Given the description of an element on the screen output the (x, y) to click on. 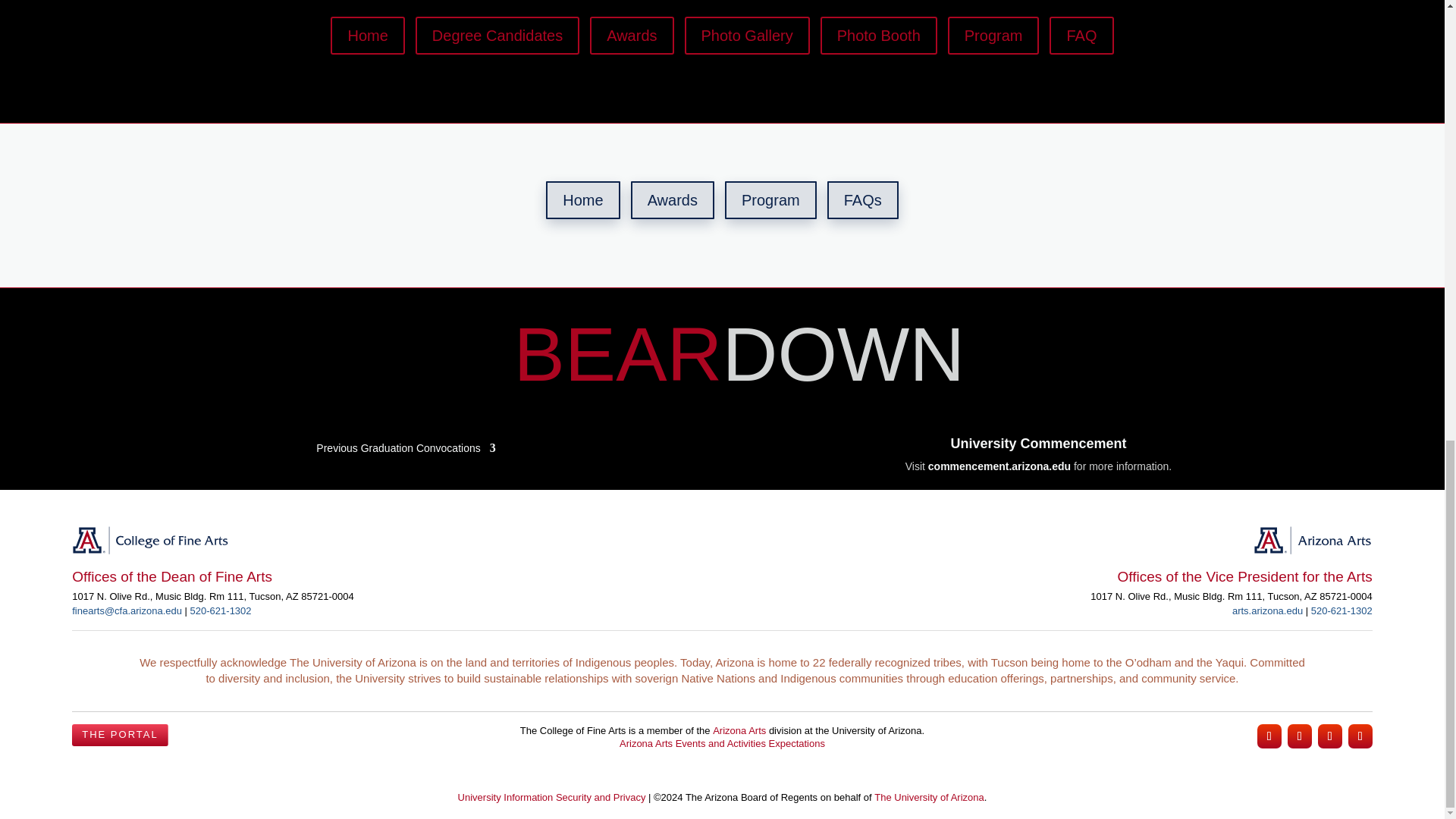
Previous Graduation Convocations (405, 444)
Follow on Youtube (1360, 735)
THE PORTAL (119, 734)
Home (583, 199)
arts.arizona.edu (1267, 610)
520-621-1302 (1342, 610)
Degree Candidates (496, 35)
CFA-Lockup-UABlue (149, 540)
Follow on X (1329, 735)
Follow on Instagram (1269, 735)
